Given the description of an element on the screen output the (x, y) to click on. 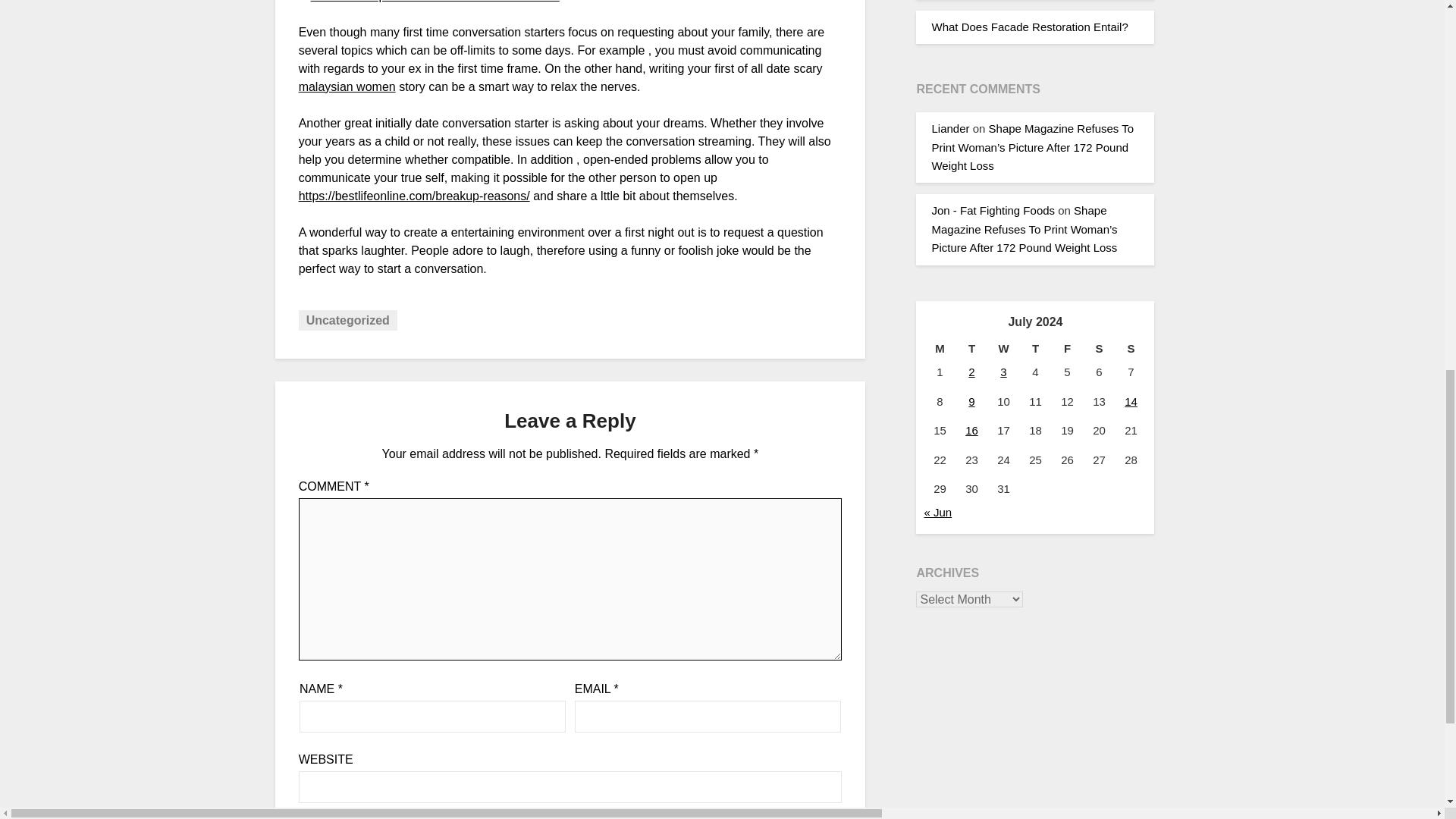
Friday (1067, 348)
Wednesday (1003, 348)
What Does Facade Restoration Entail? (1028, 26)
9 (971, 400)
2 (971, 371)
Saturday (1099, 348)
14 (1130, 400)
3 (1003, 371)
Sunday (1131, 348)
Liander (950, 128)
Tuesday (971, 348)
16 (971, 430)
Uncategorized (347, 320)
Jon - Fat Fighting Foods (992, 210)
malaysian women (347, 86)
